Given the description of an element on the screen output the (x, y) to click on. 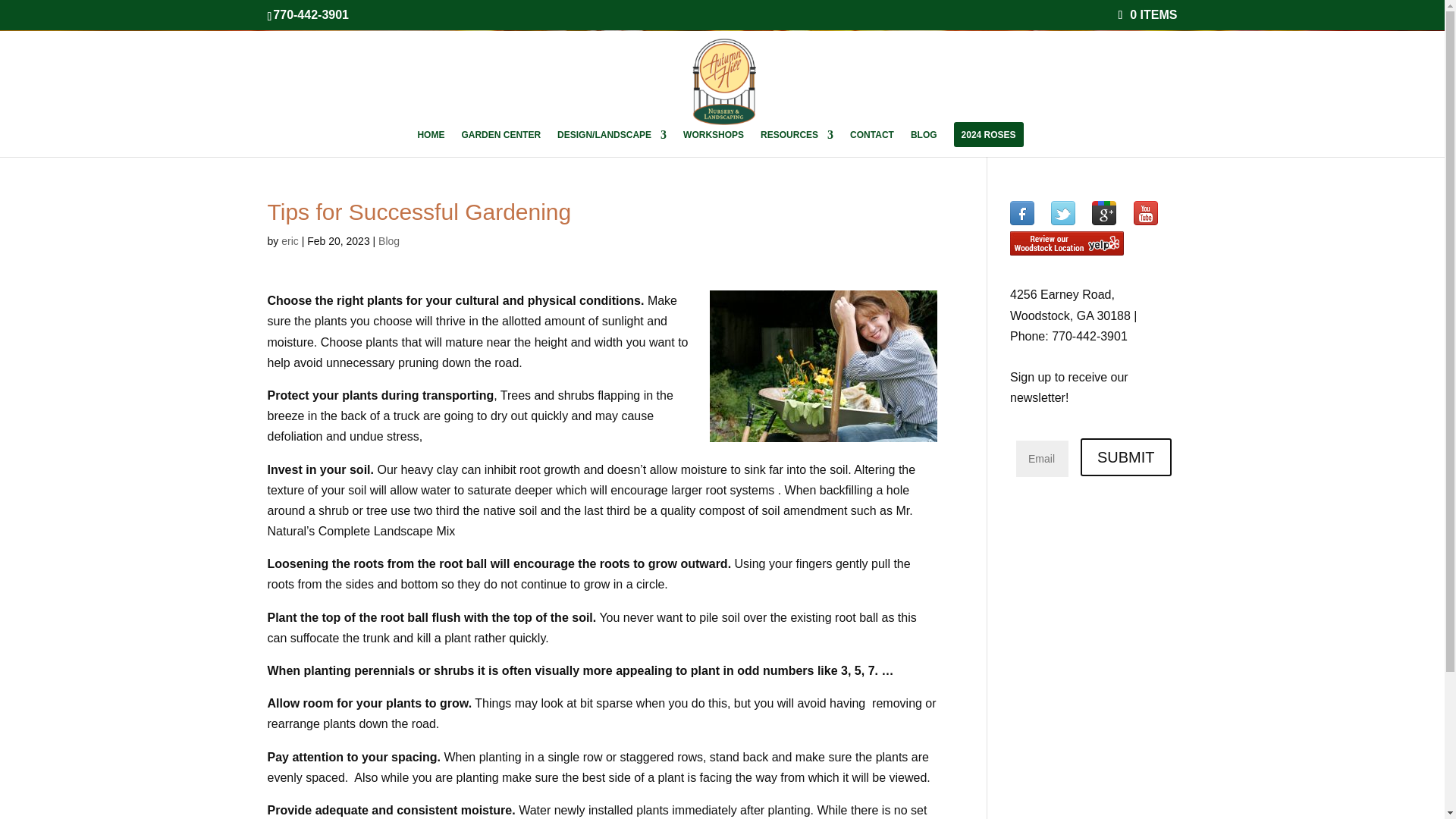
WORKSHOPS (713, 143)
0 ITEMS (1147, 14)
Posts by eric (289, 241)
HOME (430, 143)
Submit (1126, 456)
CONTACT (871, 143)
RESOURCES (796, 143)
2024 ROSES (988, 143)
GARDEN CENTER (500, 143)
BLOG (924, 143)
